Given the description of an element on the screen output the (x, y) to click on. 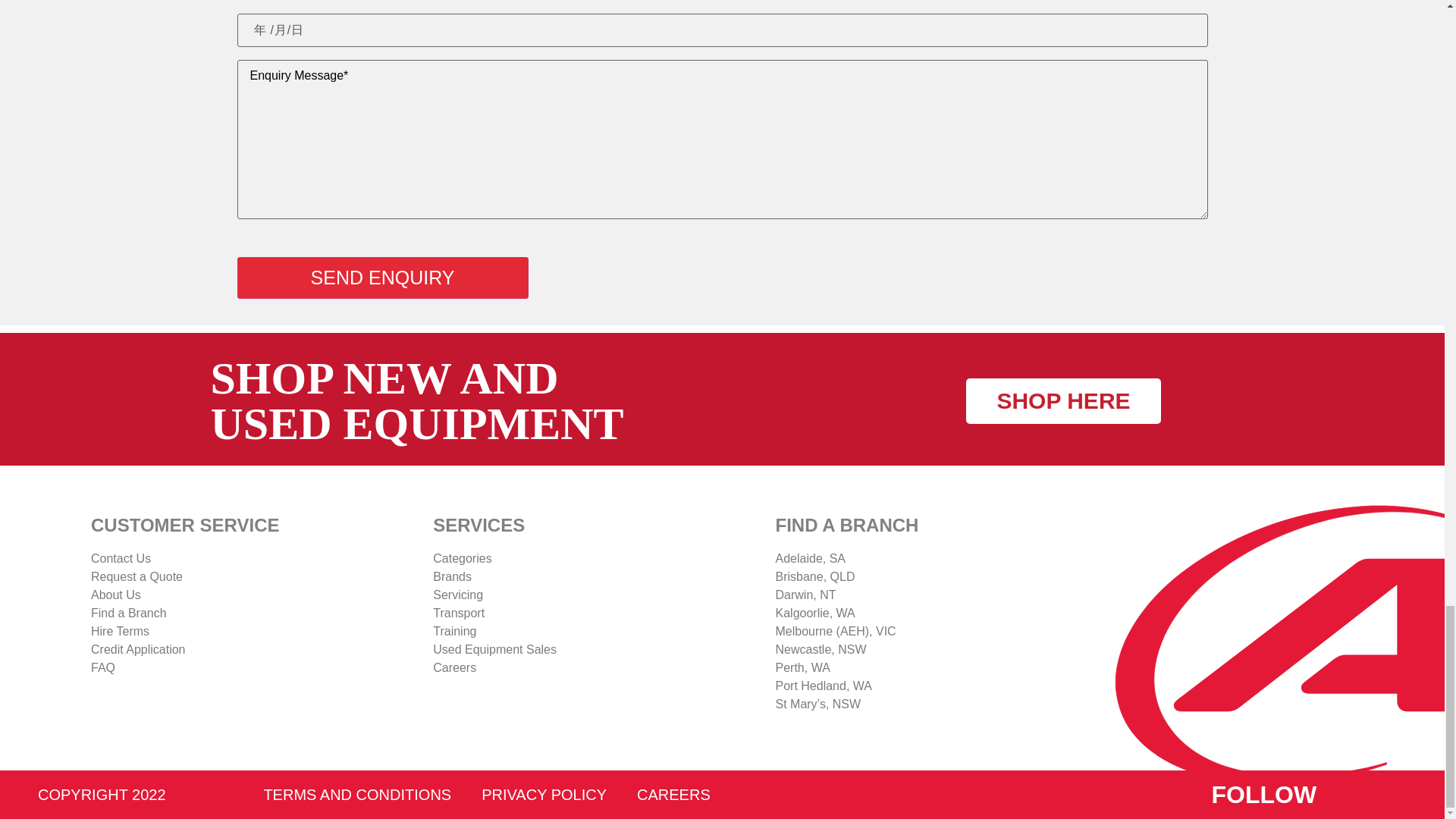
Send Enquiry (381, 278)
